Given the description of an element on the screen output the (x, y) to click on. 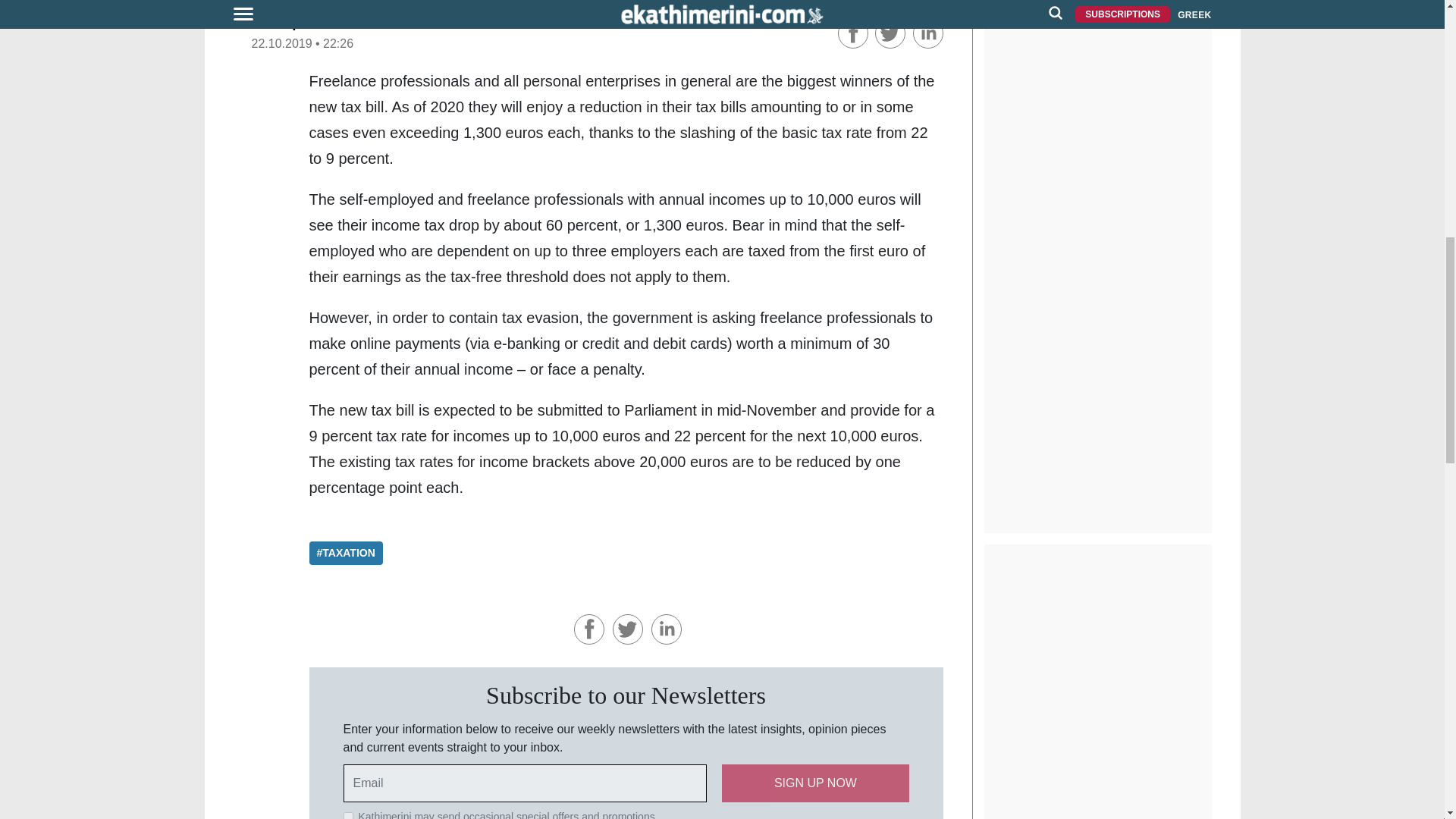
on (347, 815)
View all posts by Prokopis Hatzinikolaou (330, 22)
